Given the description of an element on the screen output the (x, y) to click on. 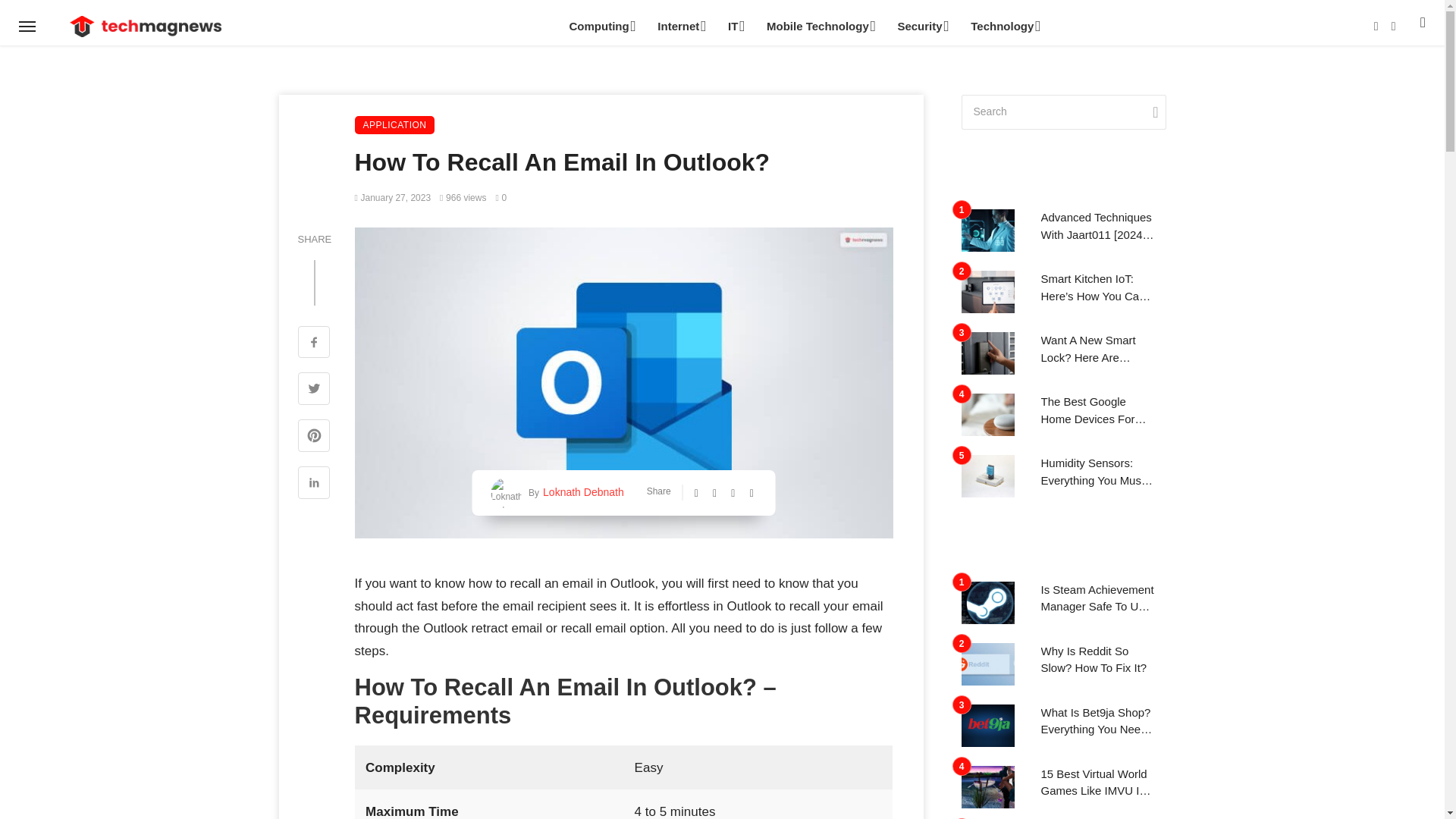
Posts by Loknath Debnath (581, 492)
Security (920, 26)
0 Comments (500, 197)
Technology (1003, 26)
Mobile Technology (818, 26)
Share on Facebook (313, 343)
Internet (679, 26)
Share on Pinterest (313, 437)
January 27, 2023 at 12:07 pm (392, 197)
Computing (600, 26)
